Given the description of an element on the screen output the (x, y) to click on. 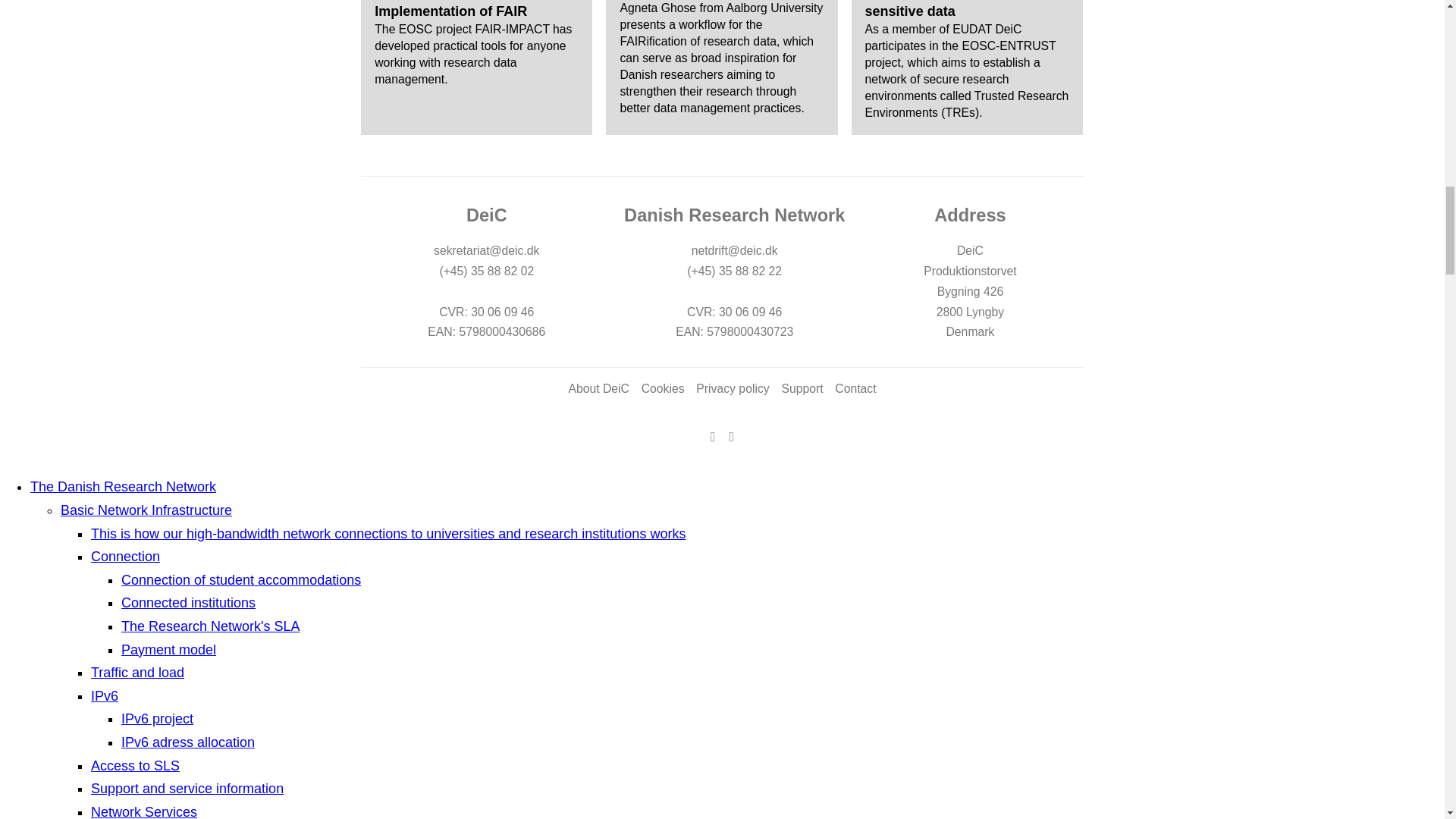
Cookies (663, 388)
About DeiC (597, 388)
Traffic and load (137, 672)
Support (801, 388)
Cookiepolitik (663, 388)
Basic Network Infrastructure (146, 509)
Privacy policy (731, 388)
Kontakt DeiC (855, 388)
IPv6 project (156, 718)
